Given the description of an element on the screen output the (x, y) to click on. 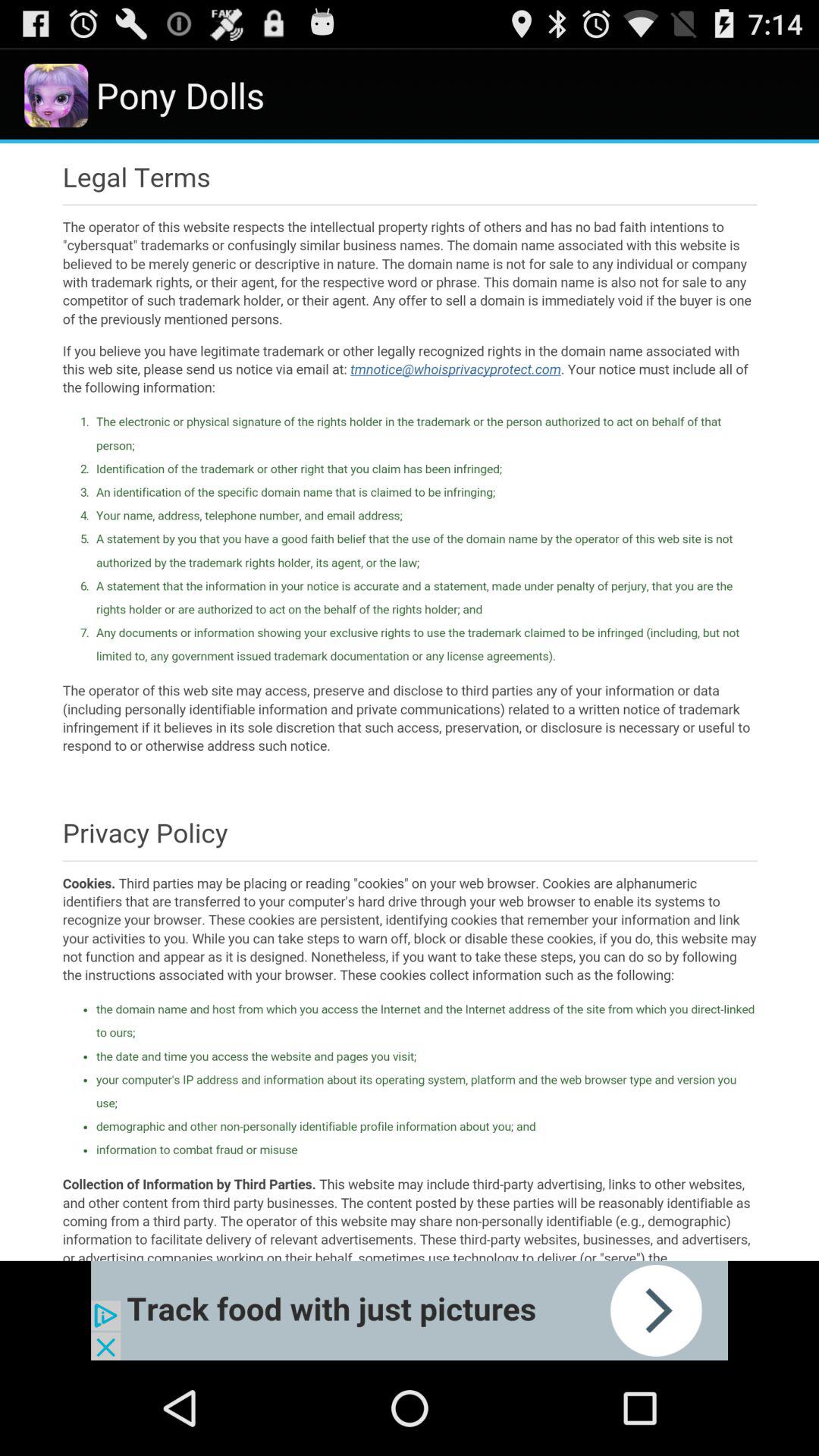
advantisment (409, 1310)
